Given the description of an element on the screen output the (x, y) to click on. 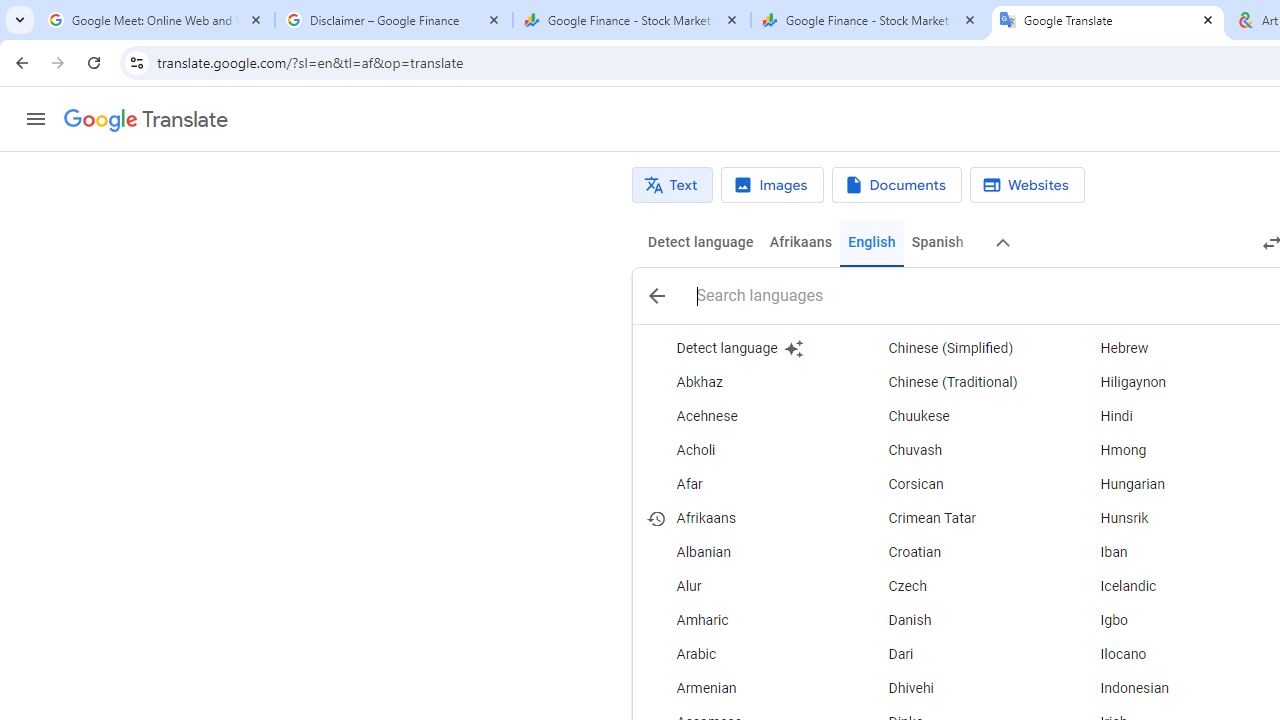
Hindi (1168, 416)
Image translation (772, 185)
Alur (745, 586)
Corsican (957, 484)
Document translation (896, 185)
Czech (957, 586)
Afrikaans (800, 242)
Afrikaans (recently used language) (745, 518)
Detect language (745, 348)
